Given the description of an element on the screen output the (x, y) to click on. 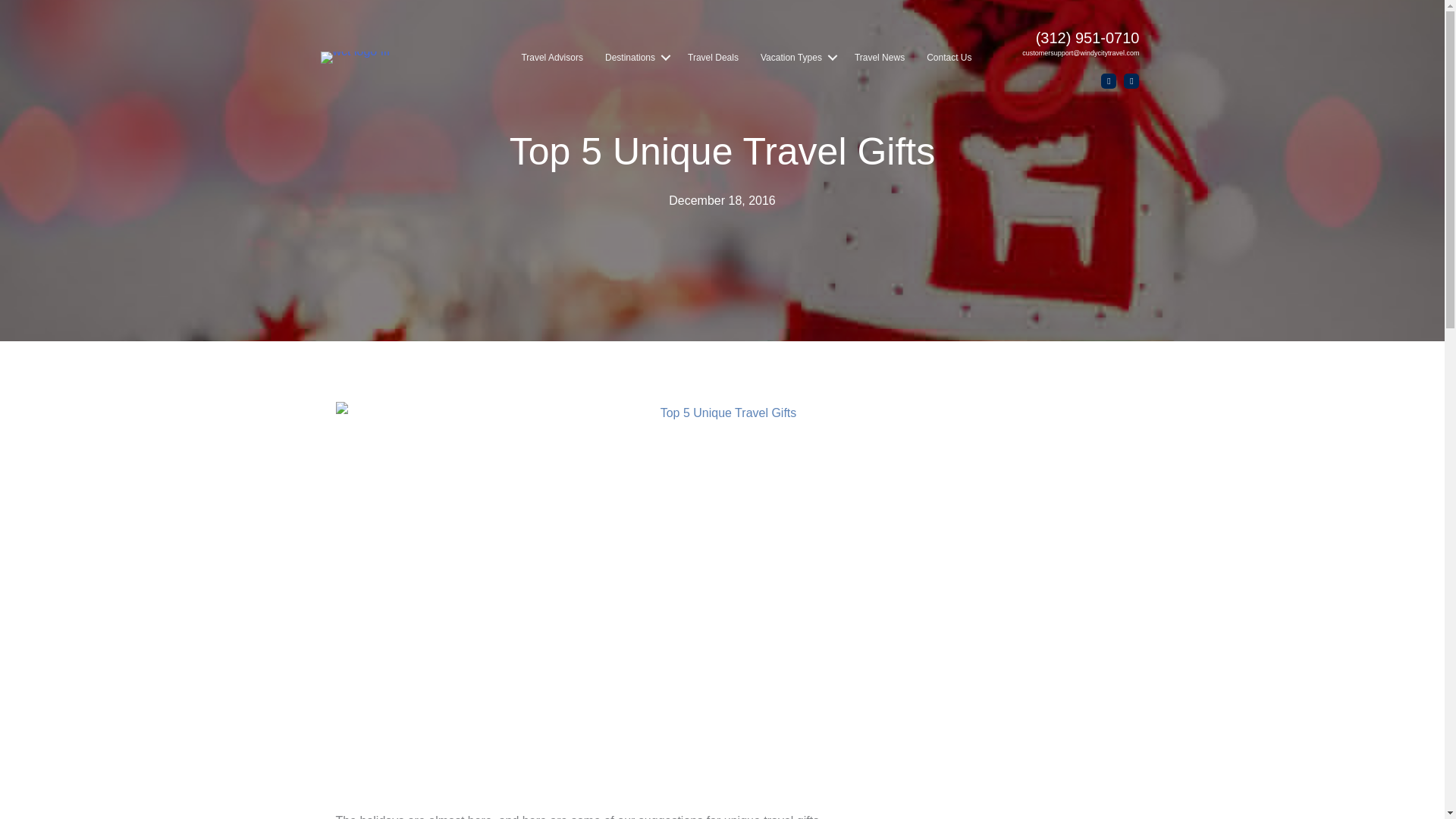
Instagram (1131, 80)
Contact Us (948, 57)
Travel News (879, 57)
Destinations (635, 57)
wct logo fff (355, 57)
Travel Advisors (552, 57)
Travel Deals (713, 57)
Vacation Types (796, 57)
